Given the description of an element on the screen output the (x, y) to click on. 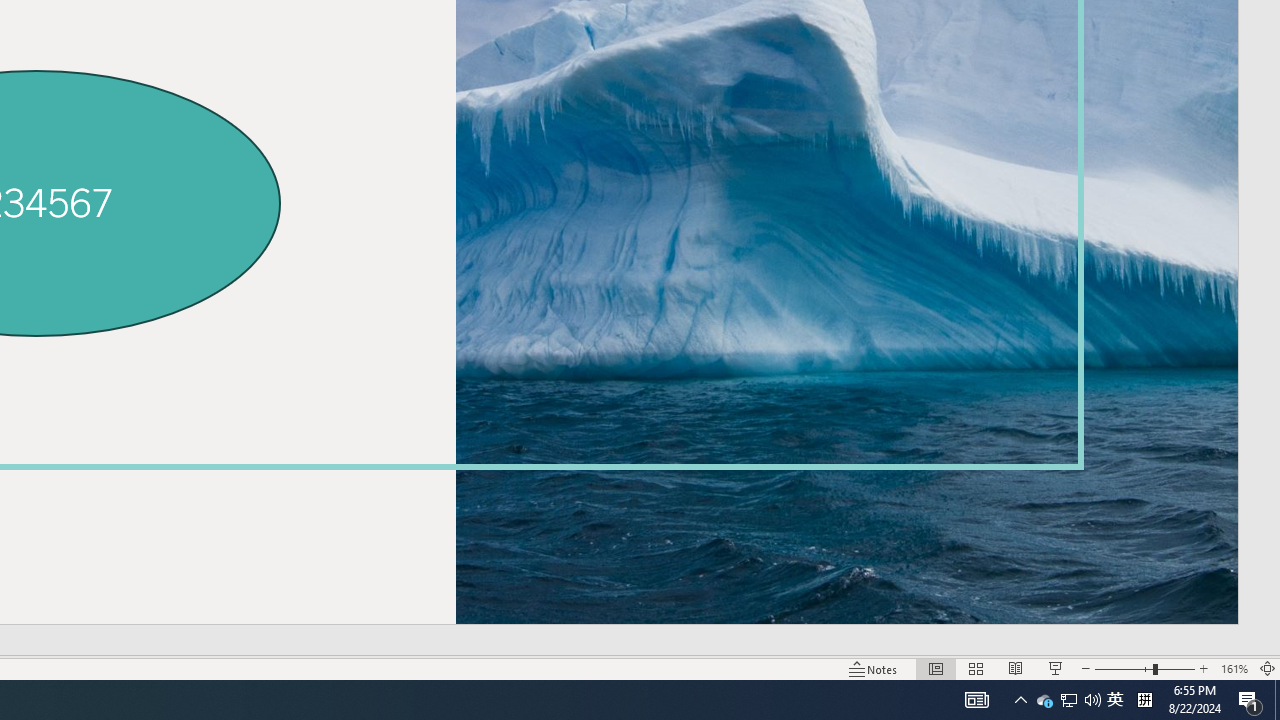
Show desktop (1277, 699)
Notification Chevron (1020, 699)
Zoom In (1204, 668)
Zoom 161% (1234, 668)
User Promoted Notification Area (1068, 699)
Q2790: 100% (1092, 699)
Zoom to Fit  (1069, 699)
Notes  (1267, 668)
AutomationID: 4105 (874, 668)
